Given the description of an element on the screen output the (x, y) to click on. 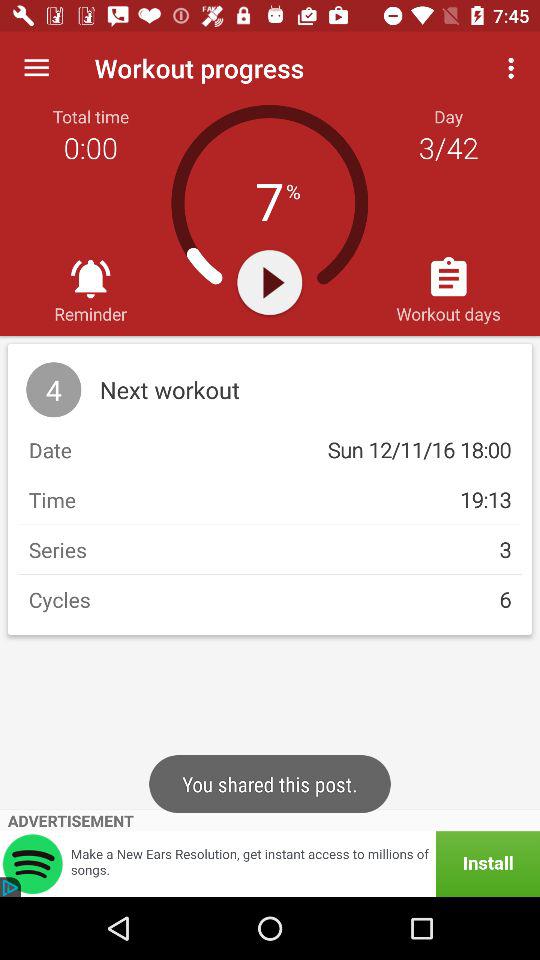
advertisement (270, 864)
